Given the description of an element on the screen output the (x, y) to click on. 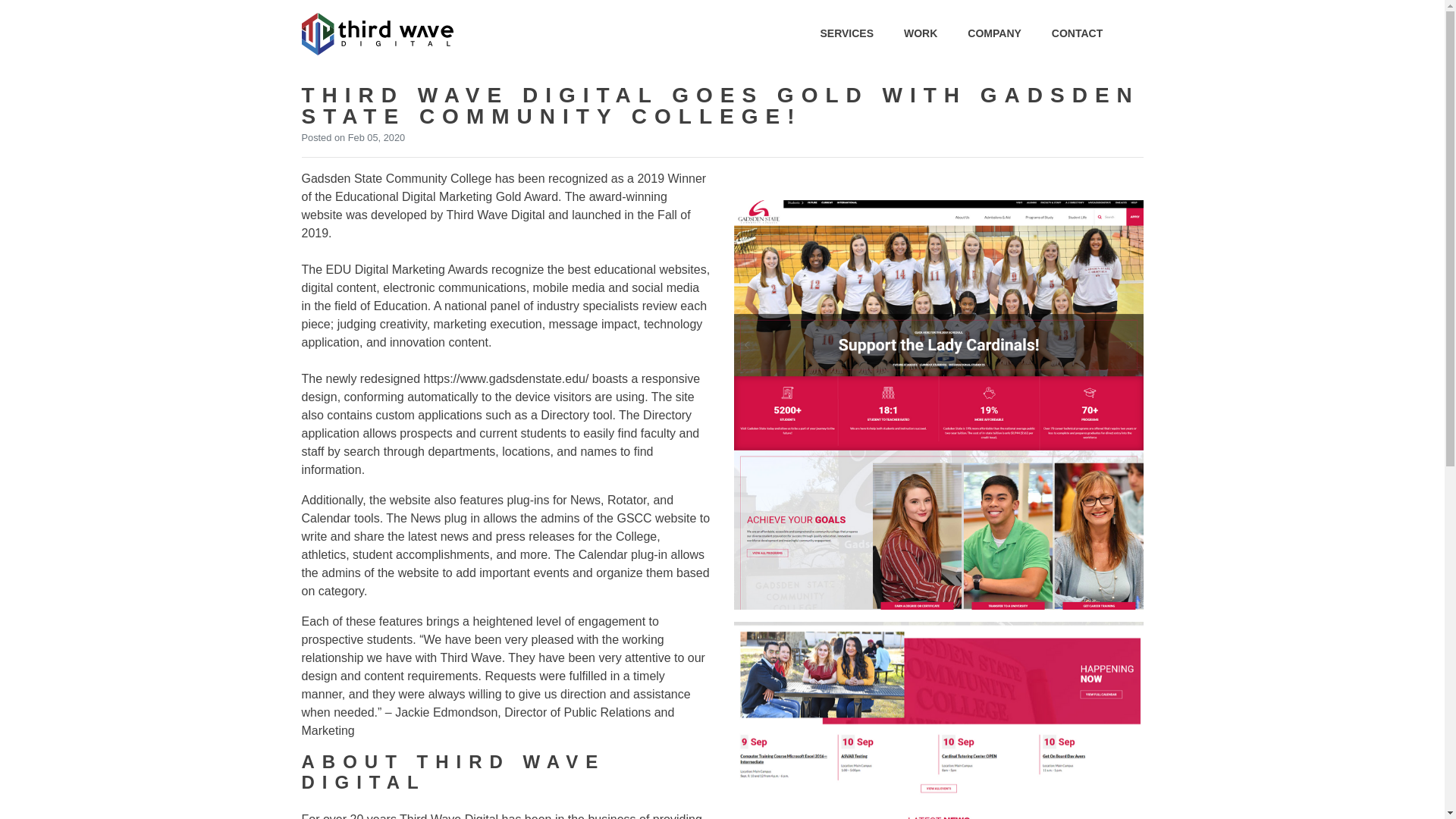
CONTACT (1076, 32)
WORK (920, 32)
SERVICES (846, 32)
COMPANY (995, 32)
